Given the description of an element on the screen output the (x, y) to click on. 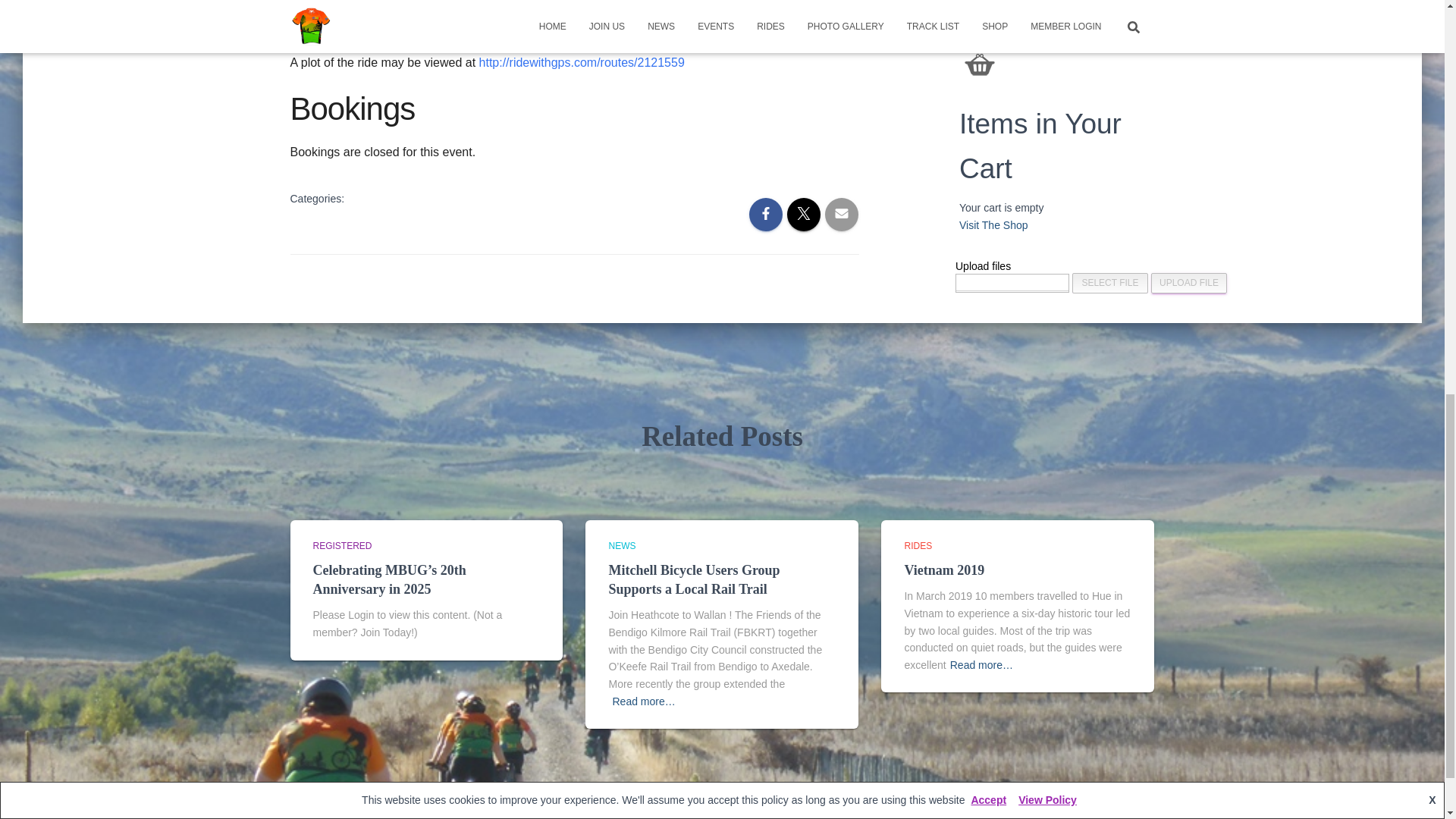
MBUG Ride start points (571, 28)
Wallan: An Arkells Lane loop (581, 62)
Visit The Shop (993, 224)
NEWS (621, 545)
Mitchell Bicycle Users Group Supports a Local Rail Trail (693, 579)
Shopping Cart (979, 64)
RIDES (917, 545)
REGISTERED (342, 545)
Select File (1109, 282)
Upload File (1189, 282)
